Given the description of an element on the screen output the (x, y) to click on. 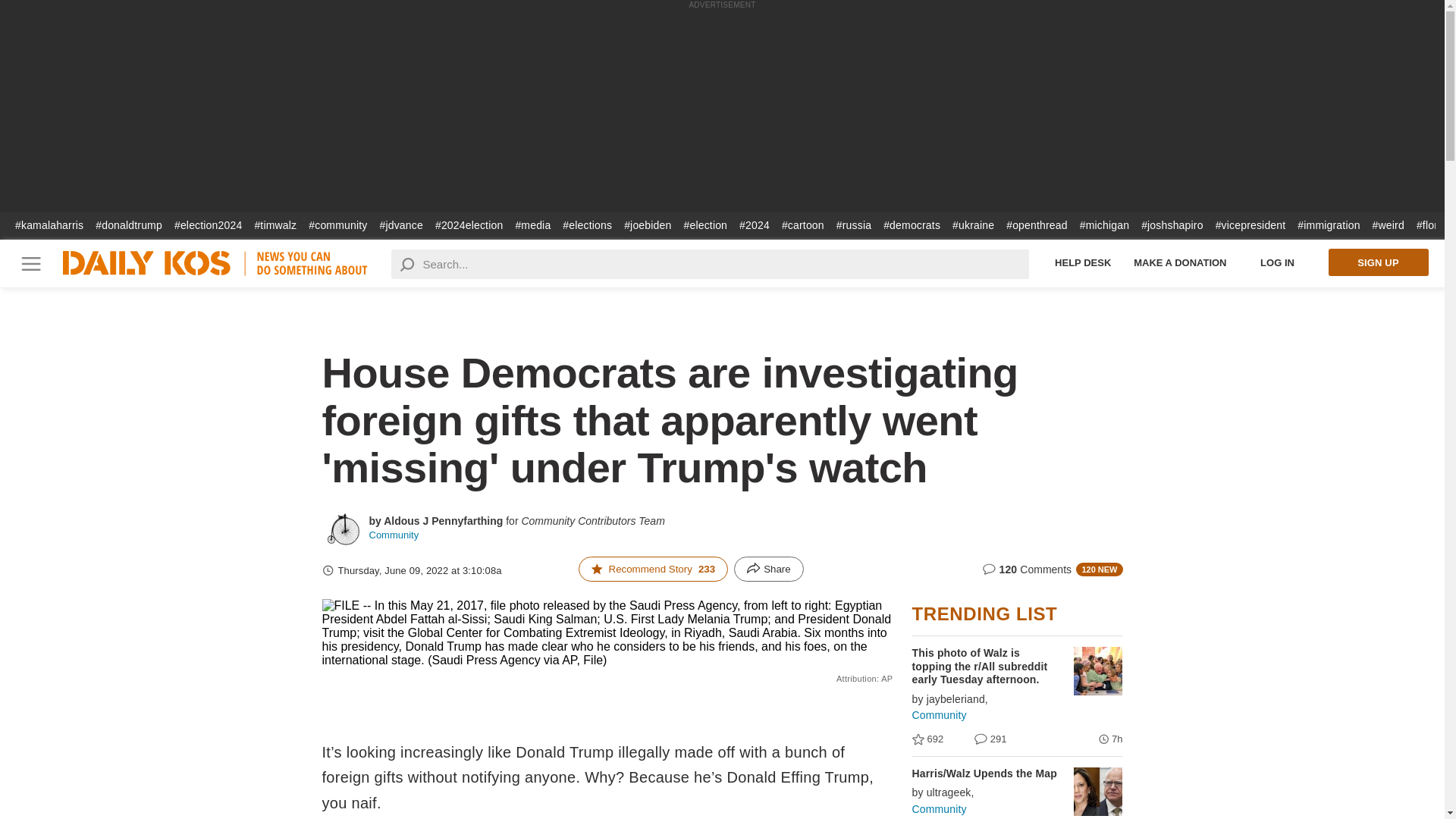
Make a Donation (1179, 262)
Help Desk (1082, 262)
MAKE A DONATION (1179, 262)
